Given the description of an element on the screen output the (x, y) to click on. 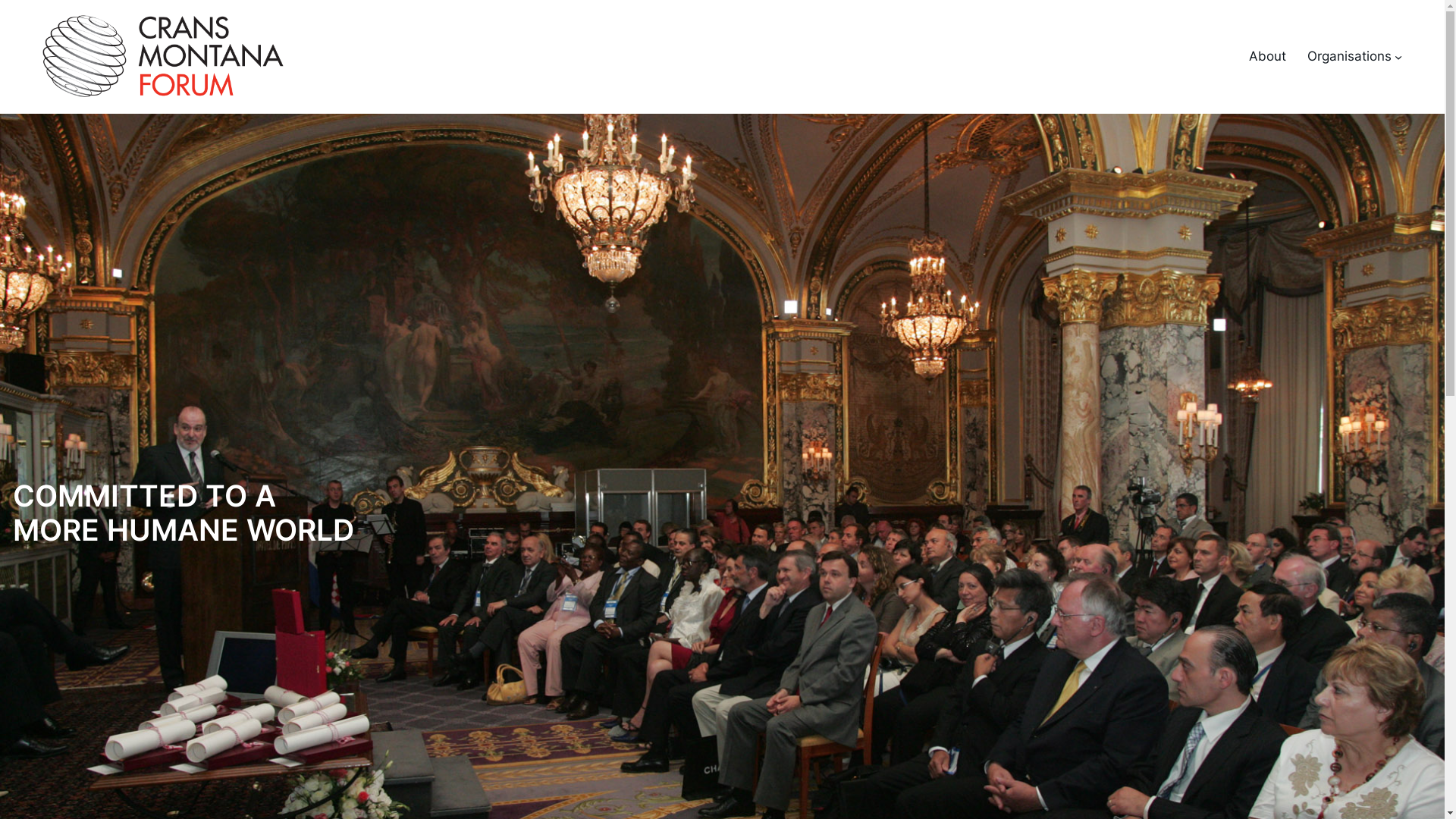
Organisations Element type: text (1349, 56)
About Element type: text (1267, 56)
